Given the description of an element on the screen output the (x, y) to click on. 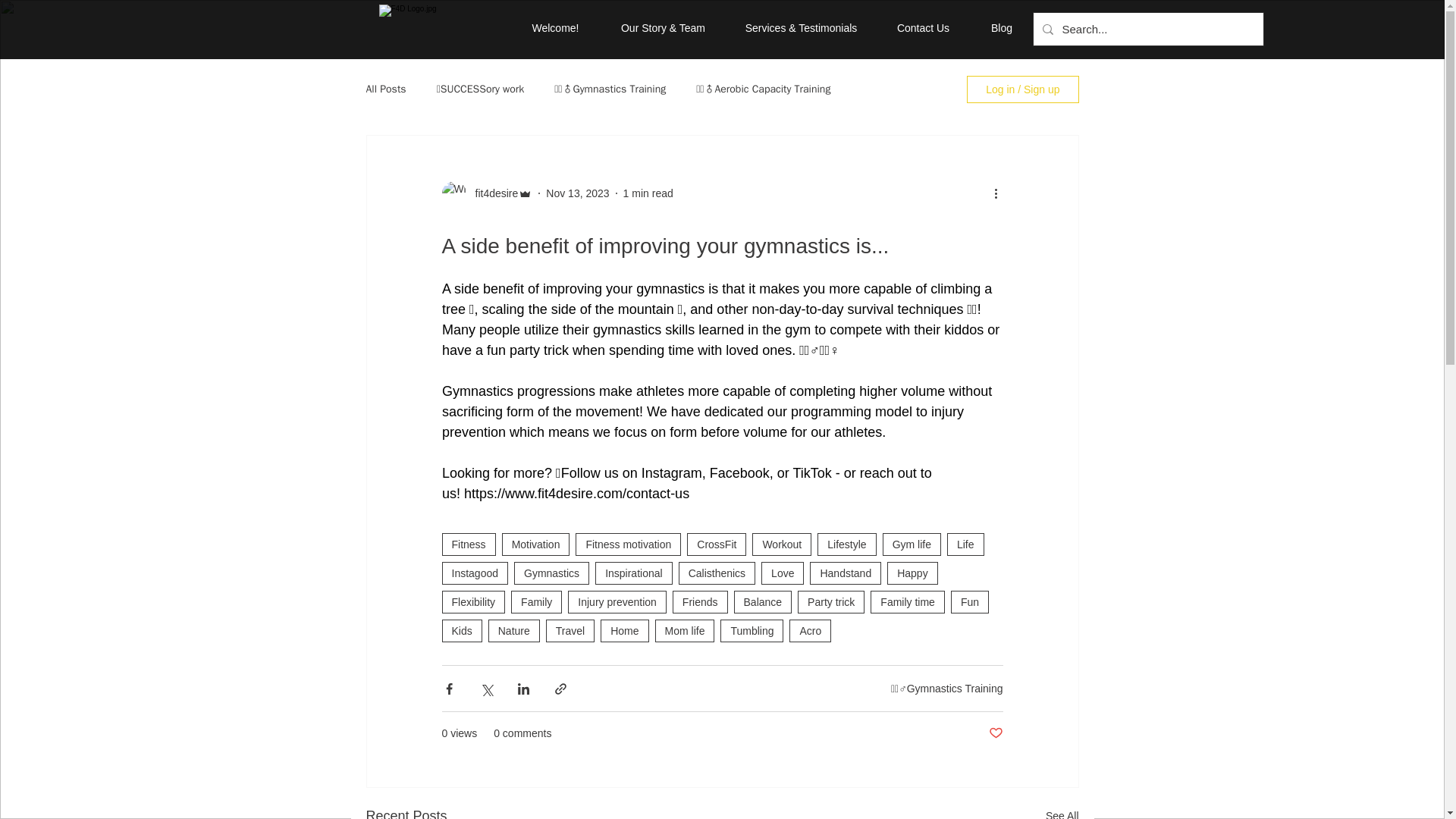
Blog (1002, 28)
fit4desire (491, 192)
Fitness motivation (628, 544)
Instagood (474, 572)
All Posts (385, 89)
Calisthenics (716, 572)
Injury prevention (616, 601)
Happy (911, 572)
CrossFit (716, 544)
Flexibility (473, 601)
